Given the description of an element on the screen output the (x, y) to click on. 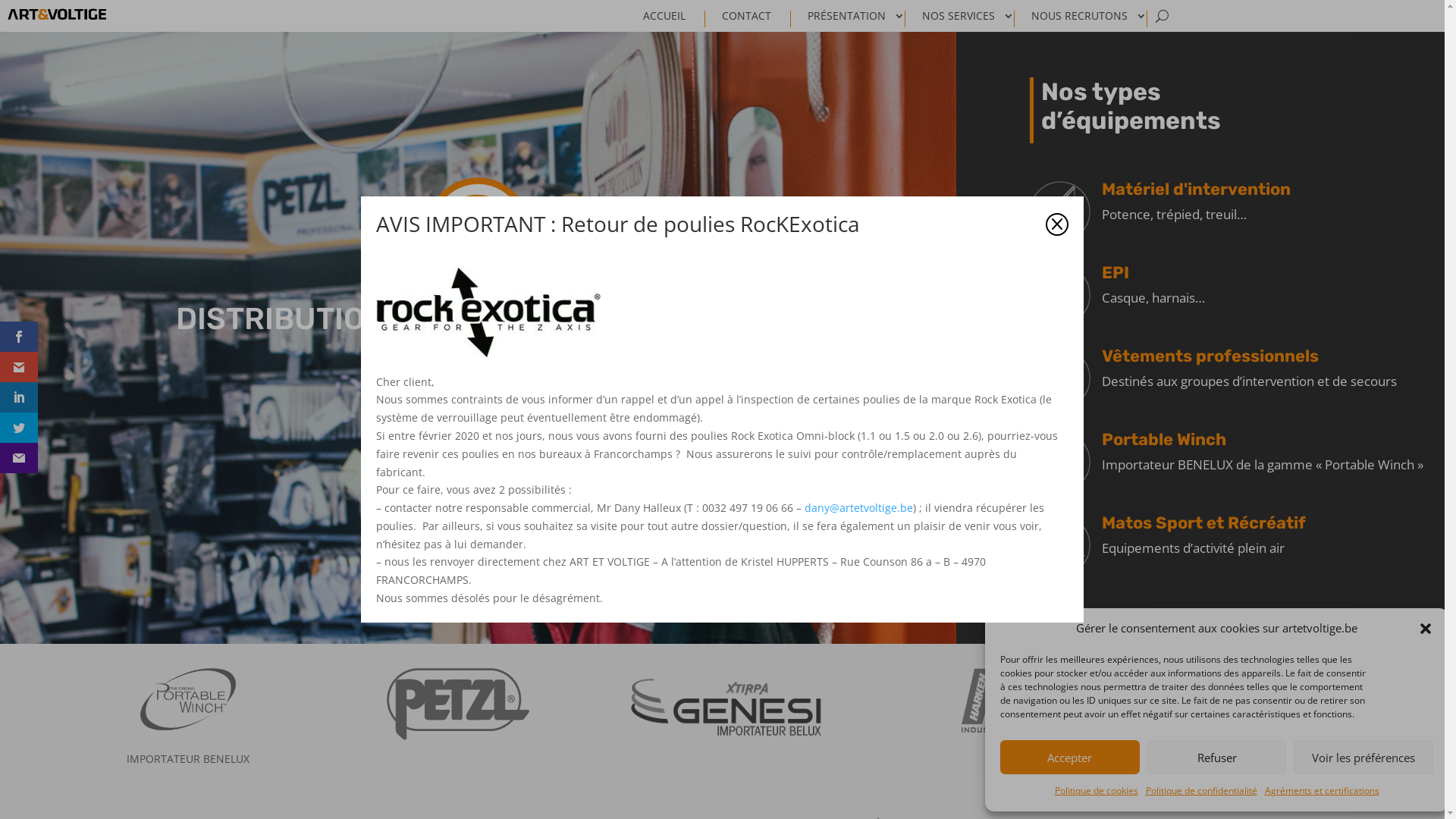
Refuser Element type: text (1216, 757)
CONTACT Element type: text (755, 18)
Politique de cookies Element type: text (1095, 790)
ACCUEIL Element type: text (674, 18)
NOUS RECRUTONS Element type: text (1089, 18)
dany@artetvoltige.be Element type: text (858, 507)
Accepter Element type: text (1069, 757)
NOS SERVICES Element type: text (968, 18)
